Given the description of an element on the screen output the (x, y) to click on. 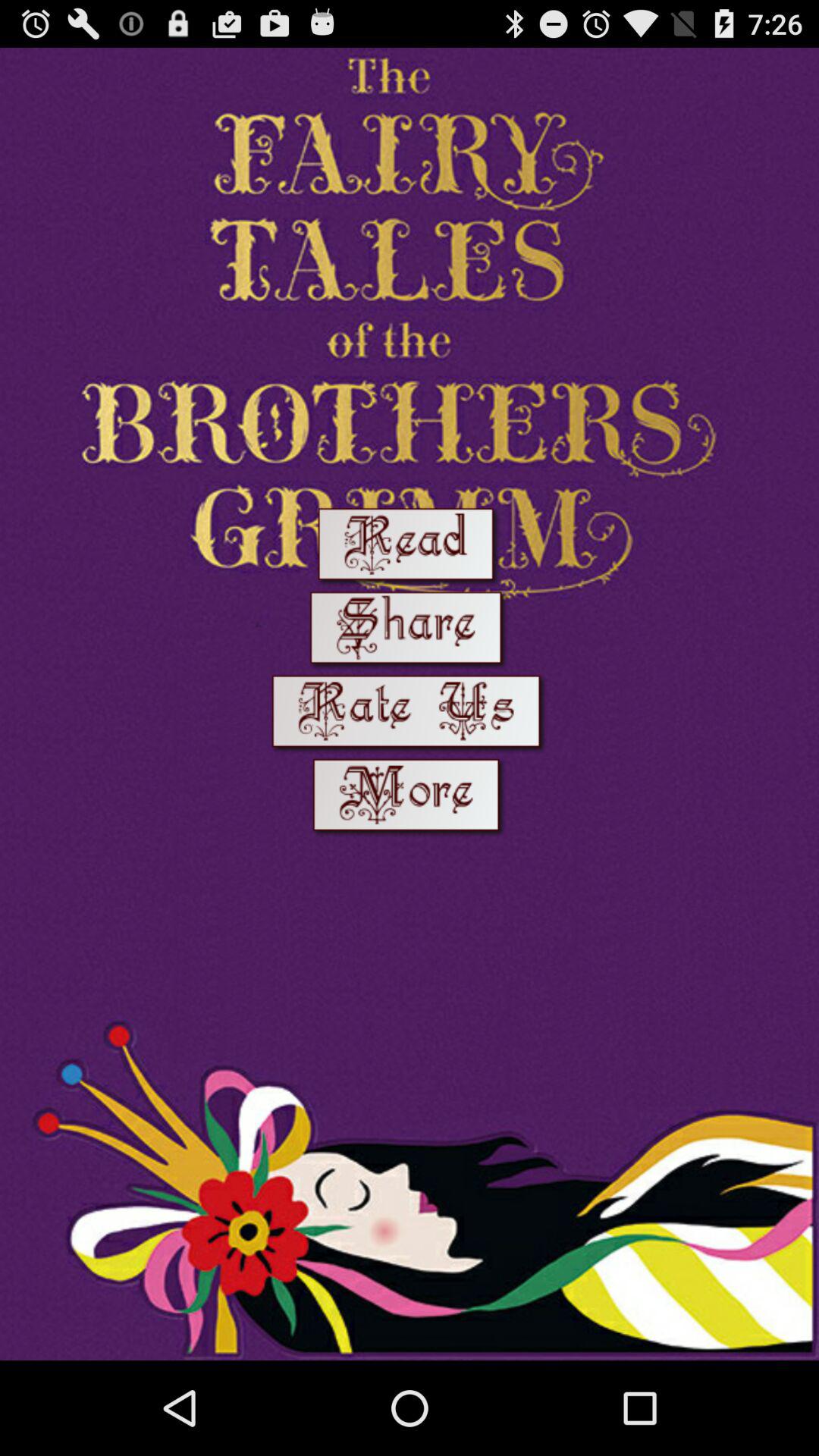
logon (409, 714)
